Given the description of an element on the screen output the (x, y) to click on. 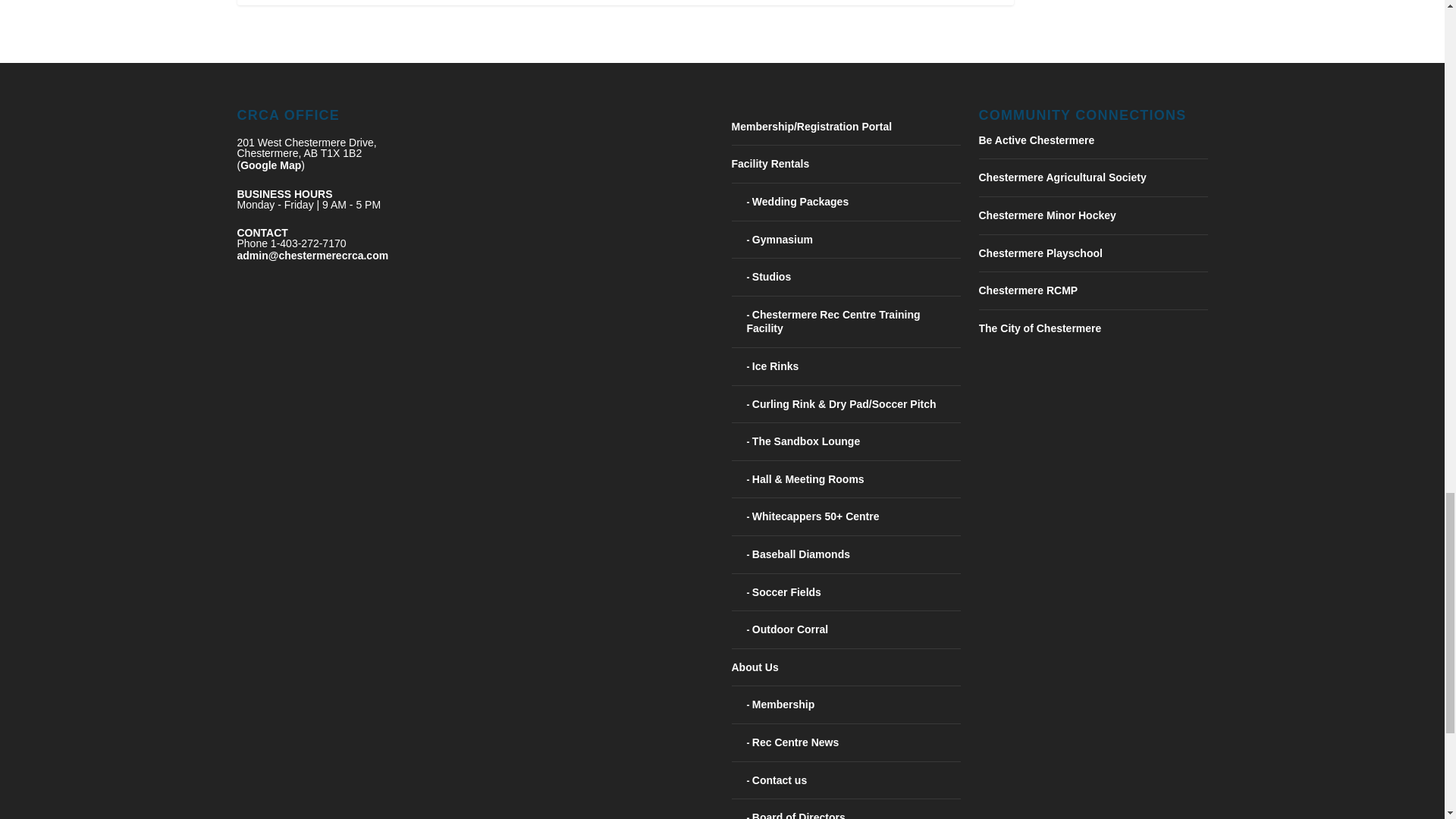
Chestermere Agricultural Society (1061, 177)
Chestermere Minor Hockey (1046, 215)
Be Active Chestermere (1036, 140)
Chestermere RCMP (1027, 290)
